Given the description of an element on the screen output the (x, y) to click on. 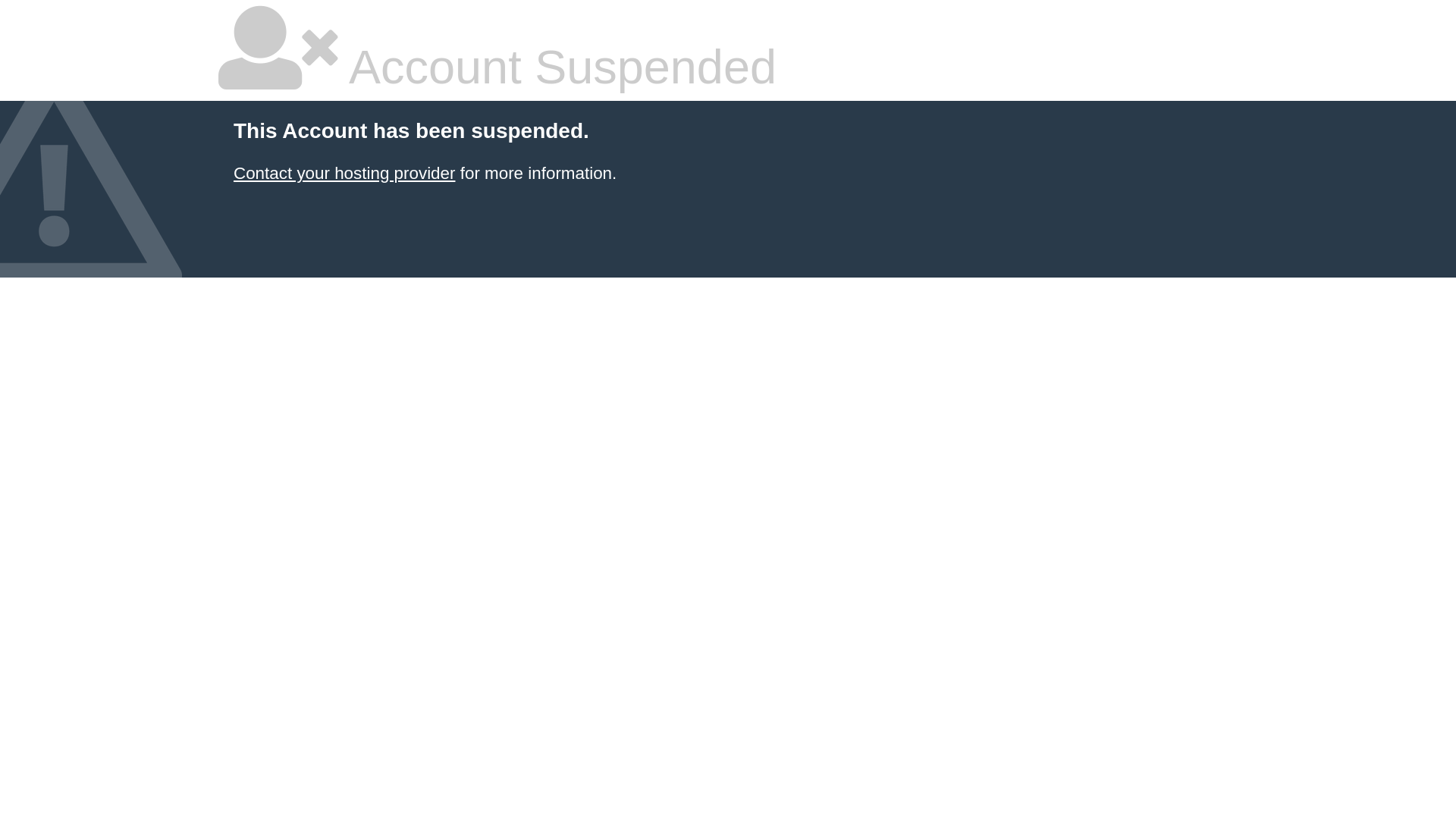
Contact your hosting provider Element type: text (344, 172)
